Given the description of an element on the screen output the (x, y) to click on. 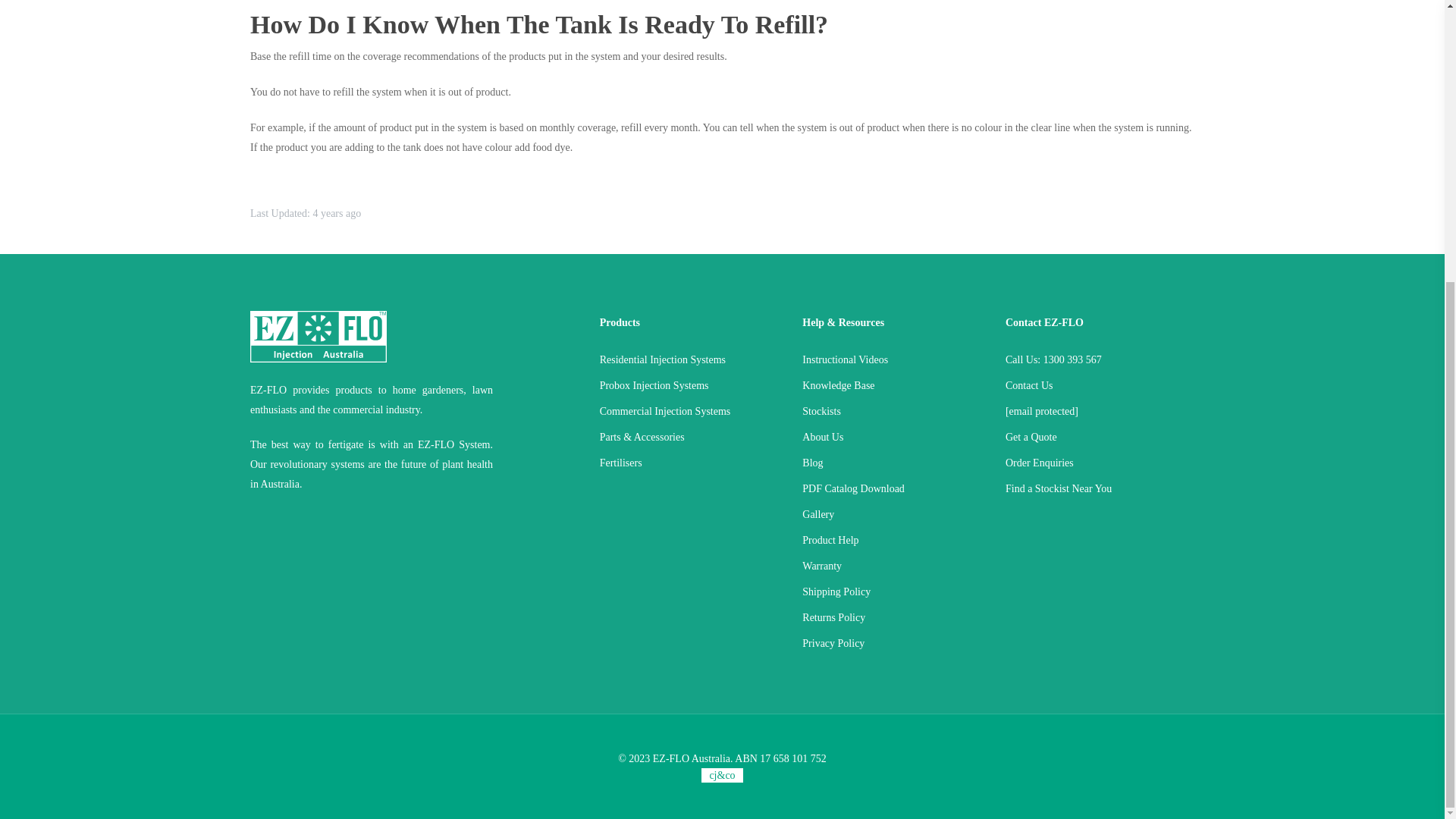
Fertilisers (691, 463)
Knowledge Base (894, 385)
PDF Catalog Download (894, 488)
Blog (894, 463)
Stockists (894, 411)
Product Help (894, 540)
Shipping Policy (894, 591)
Residential Injection Systems (691, 360)
Warranty (894, 566)
Probox Injection Systems (691, 385)
